Given the description of an element on the screen output the (x, y) to click on. 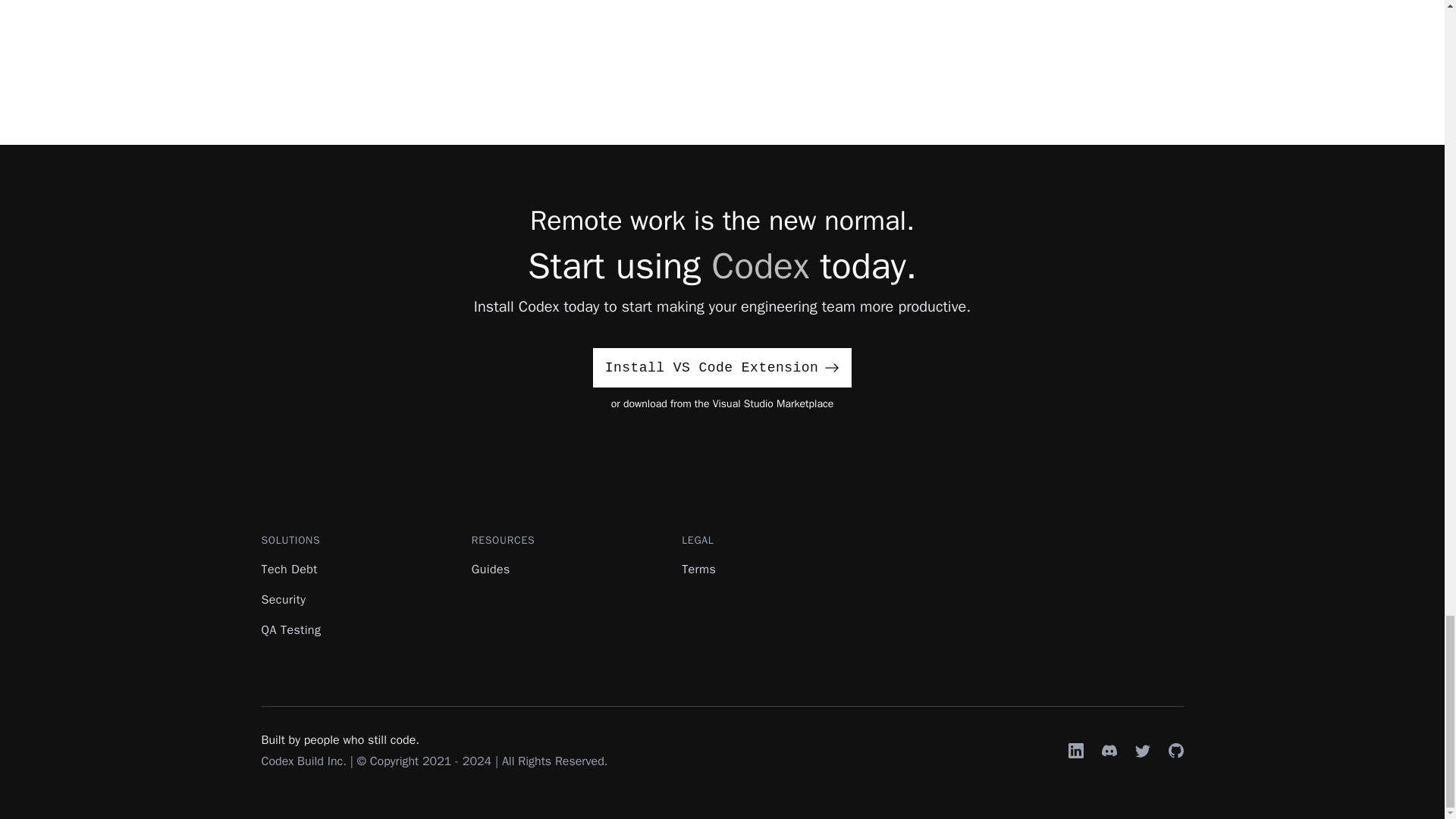
Security (282, 599)
Discord (1108, 750)
Install VS Code Extension (721, 367)
Visual Studio Marketplace (773, 403)
Terms (698, 569)
Guides (491, 569)
LinkedIn (1075, 750)
Twitter (1142, 750)
Tech Debt (288, 569)
QA Testing (290, 630)
